Given the description of an element on the screen output the (x, y) to click on. 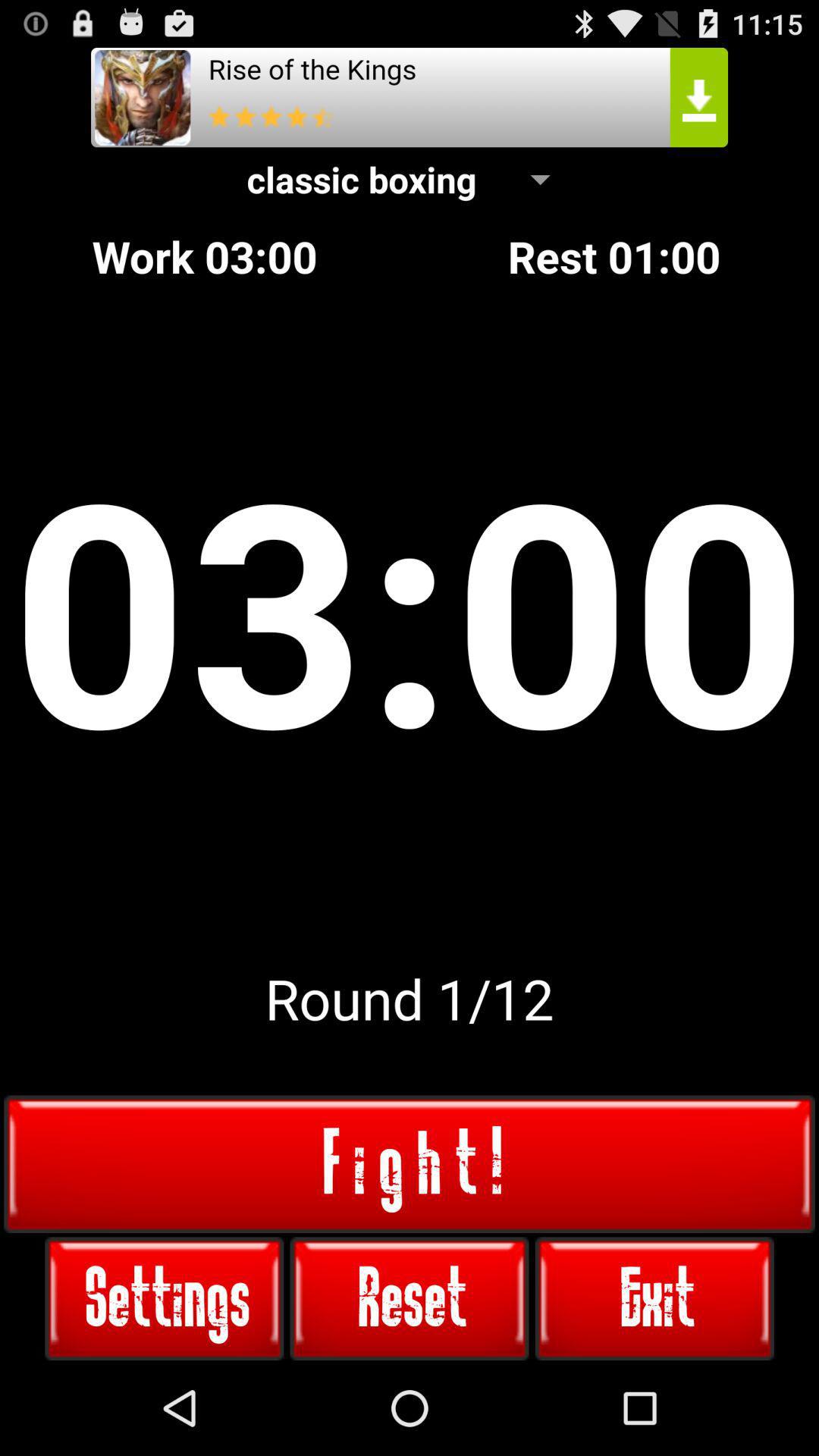
open advertisement (409, 97)
